Given the description of an element on the screen output the (x, y) to click on. 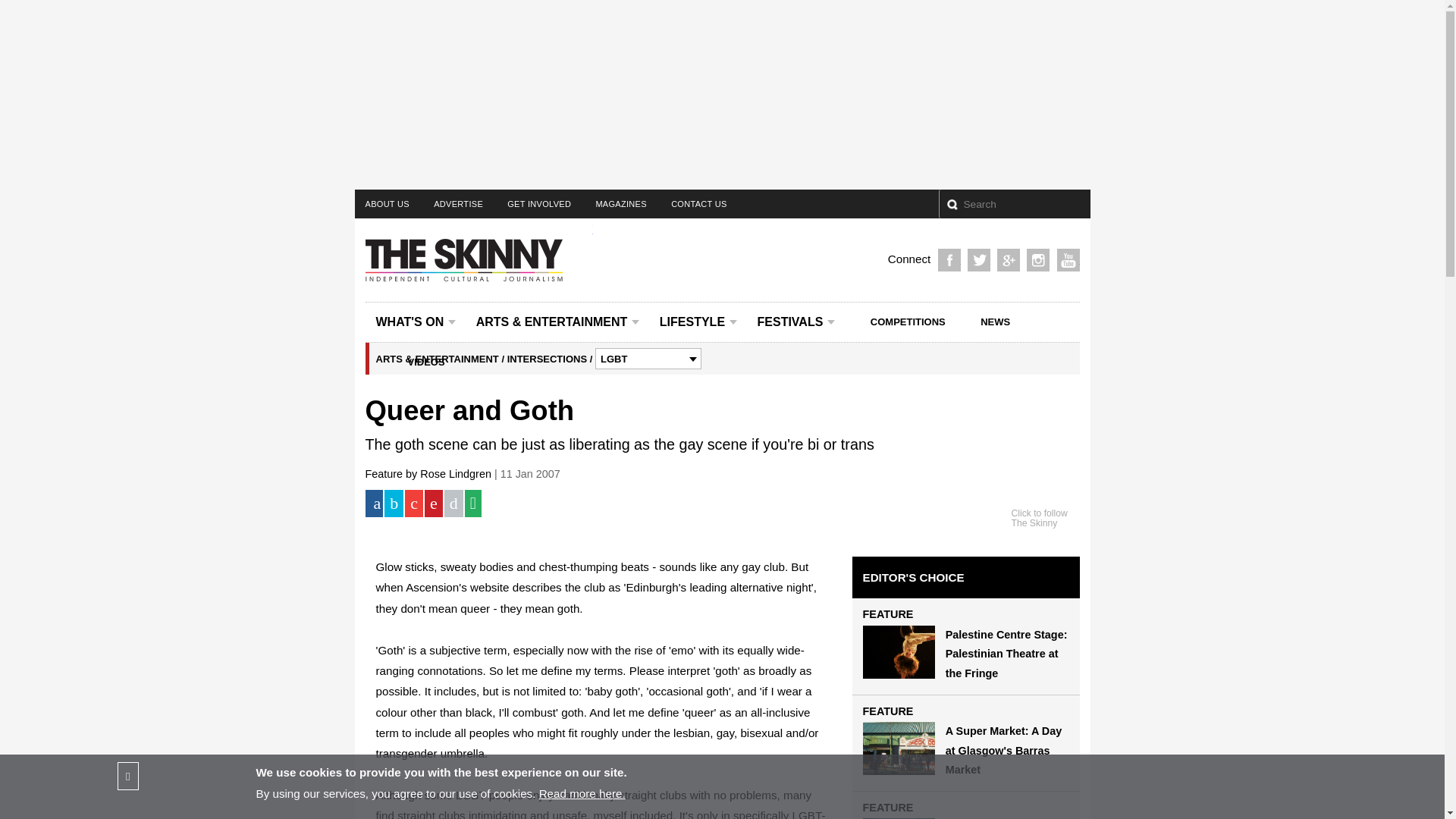
WHAT'S ON (416, 322)
Twitter (979, 259)
Youtube (1068, 259)
MAGAZINES (621, 203)
GET INVOLVED (538, 203)
LIFESTYLE (697, 322)
Instagram (1037, 259)
The Skinny (473, 260)
Facebook (948, 259)
